Given the description of an element on the screen output the (x, y) to click on. 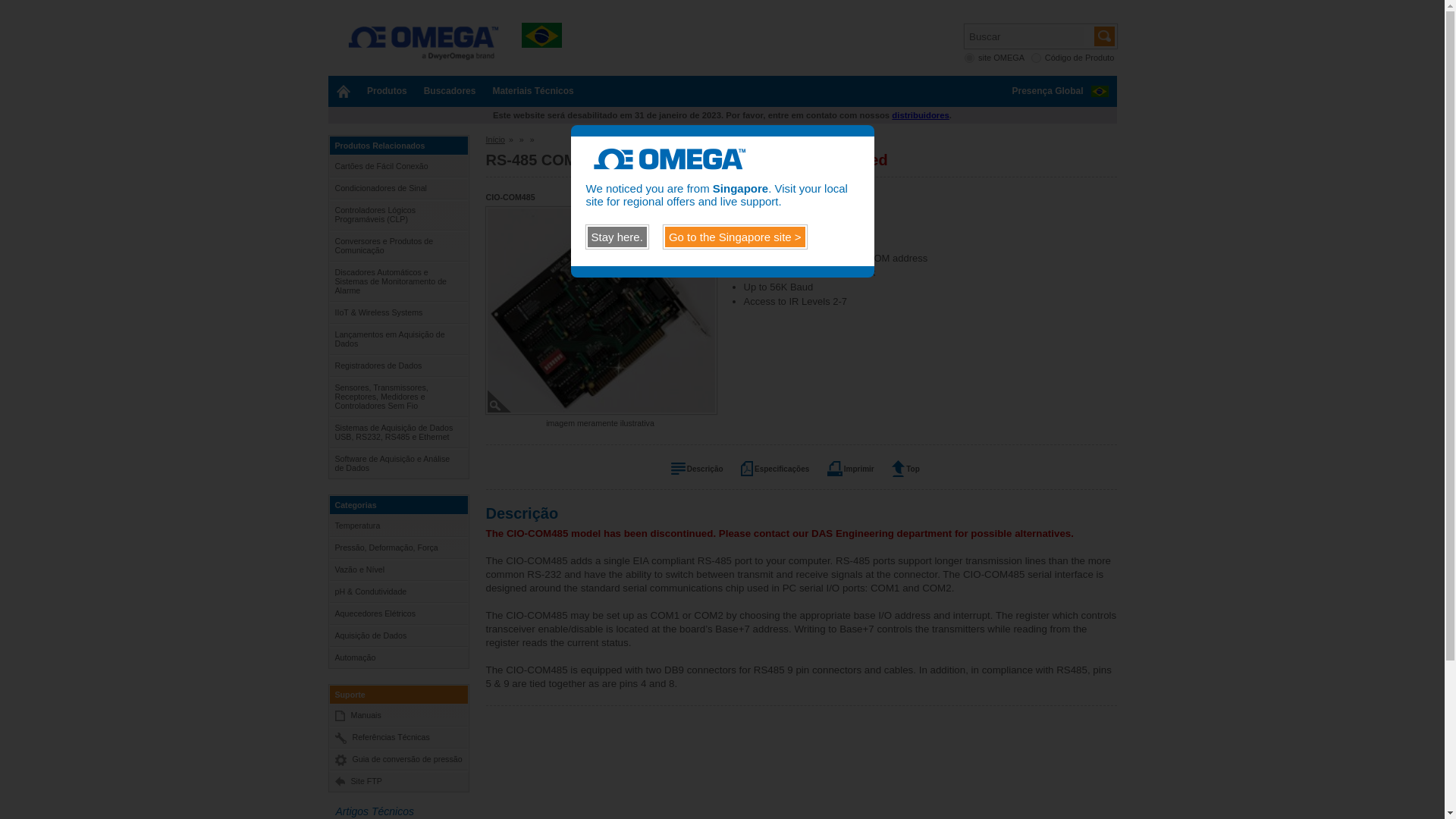
allomega (968, 58)
Condicionadores de Sinal (398, 188)
Buscadores (449, 91)
Produtos (386, 91)
Registradores de Dados (398, 364)
pn (1035, 58)
